Given the description of an element on the screen output the (x, y) to click on. 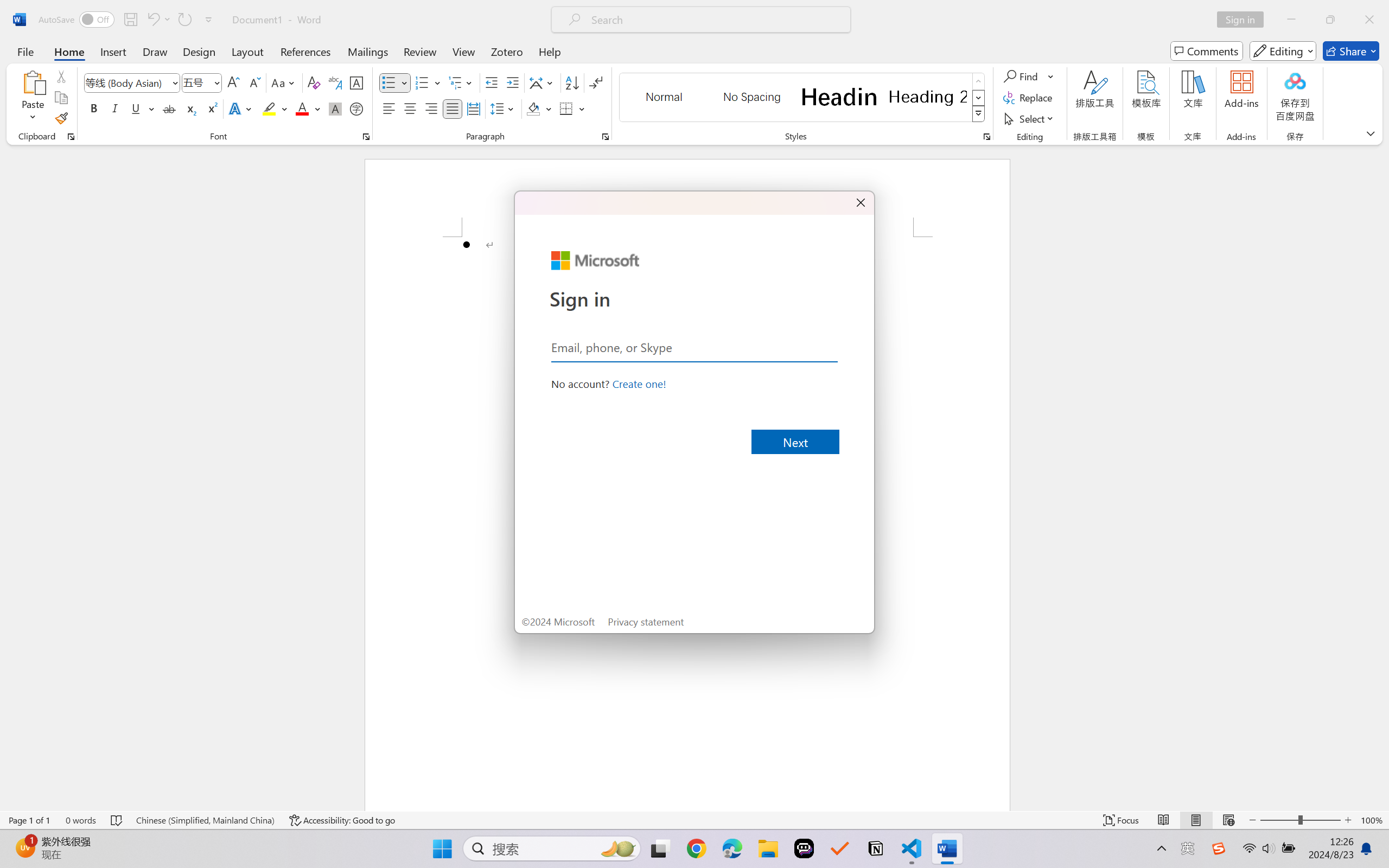
Zoom 100% (1372, 819)
